Given the description of an element on the screen output the (x, y) to click on. 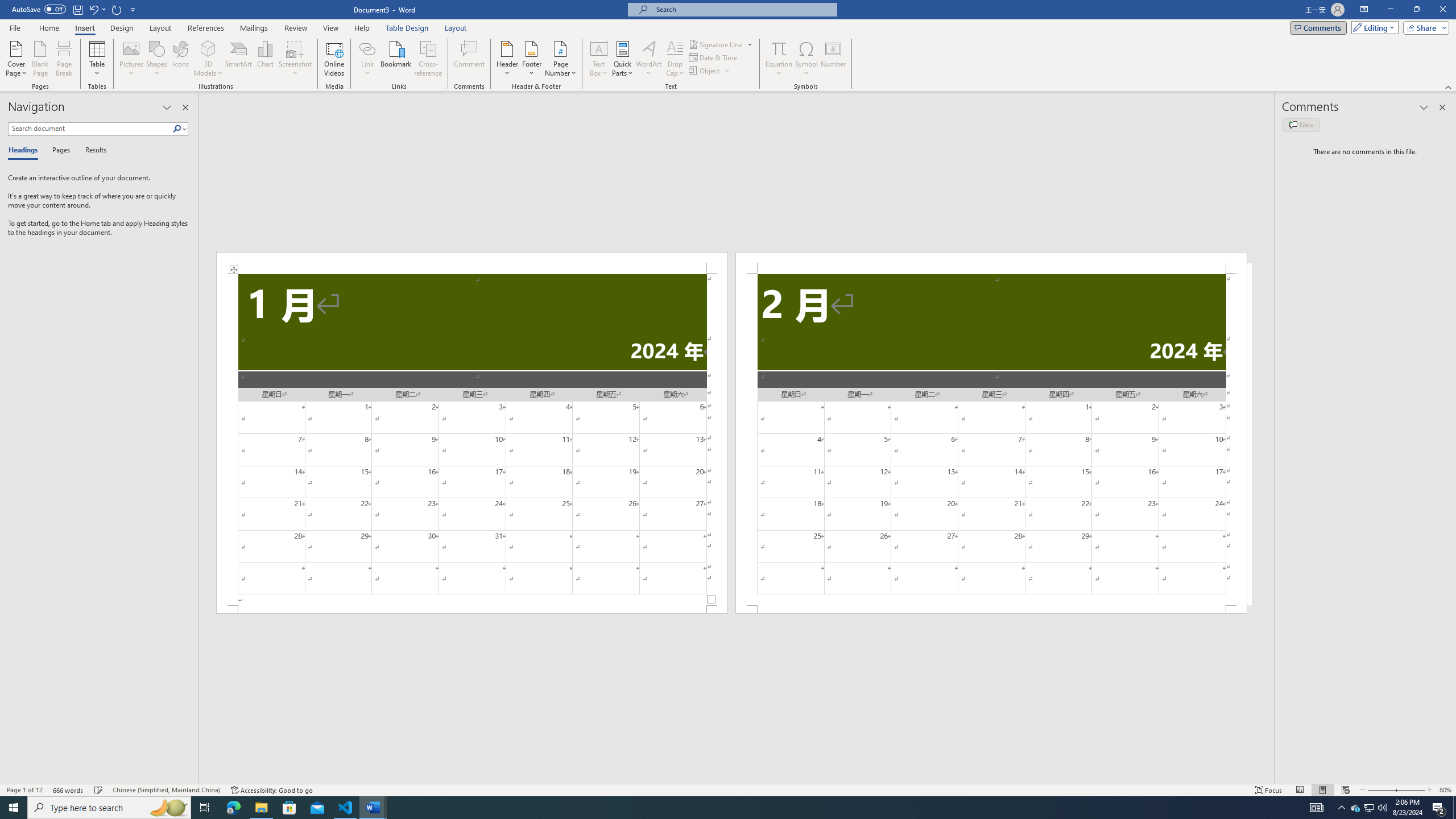
Page 1 content (471, 439)
Blank Page (40, 58)
Zoom Out (1378, 790)
Home (48, 28)
Object... (705, 69)
Cover Page (16, 58)
SmartArt... (238, 58)
View (330, 28)
Text Box (598, 58)
Zoom In (1408, 790)
